Given the description of an element on the screen output the (x, y) to click on. 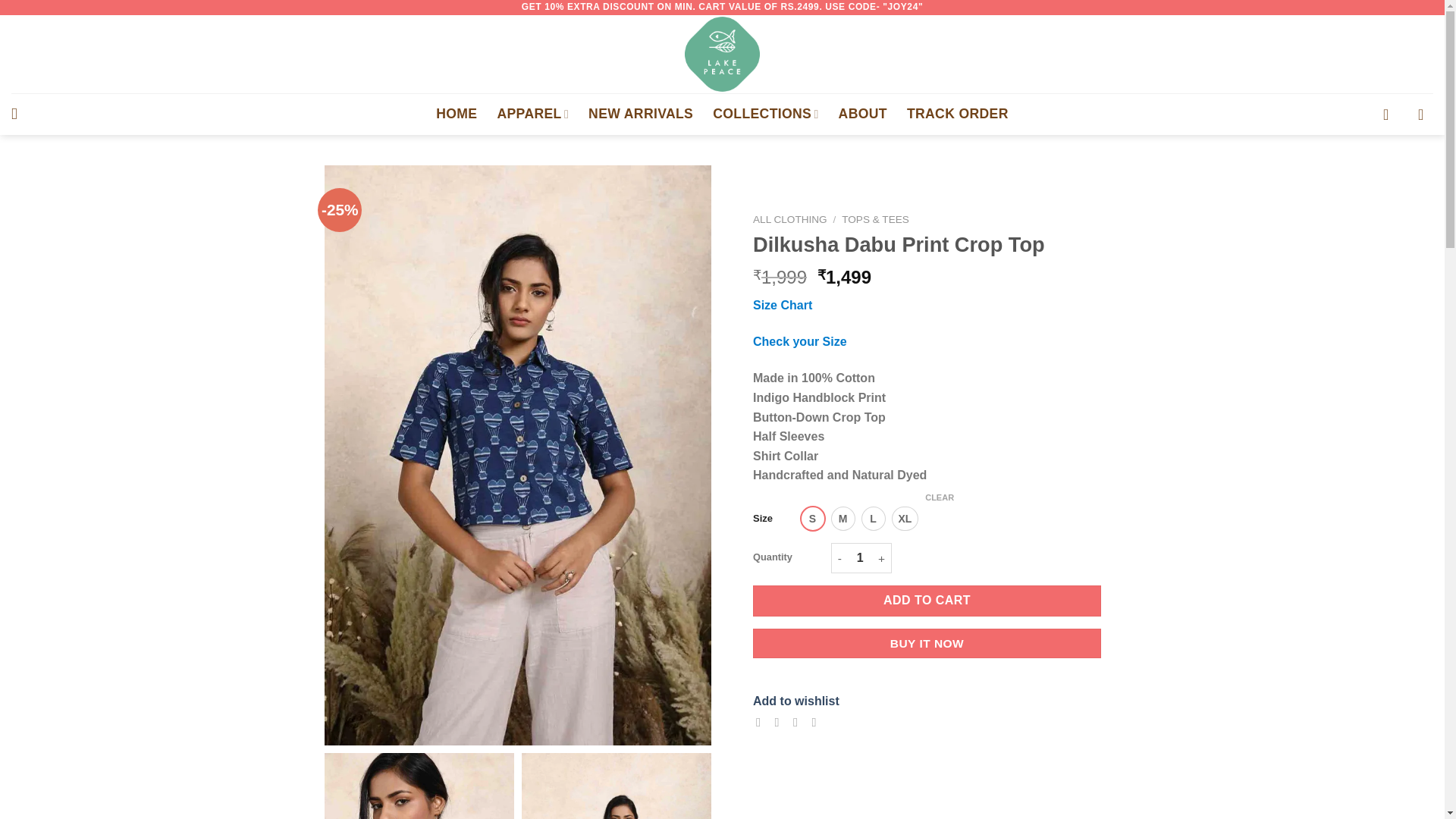
ABOUT (862, 114)
Share on Facebook (761, 721)
Dilkusha Blockprint Crop Top Blue 2 (616, 785)
1 (859, 557)
- (839, 557)
NEW ARRIVALS (640, 114)
ALL CLOTHING (789, 219)
APPAREL (532, 114)
Dilkusha Blockprint Crop Top Blue 6 (418, 785)
COLLECTIONS (765, 114)
Cart (1425, 113)
HOME (456, 114)
TRACK ORDER (958, 114)
